Given the description of an element on the screen output the (x, y) to click on. 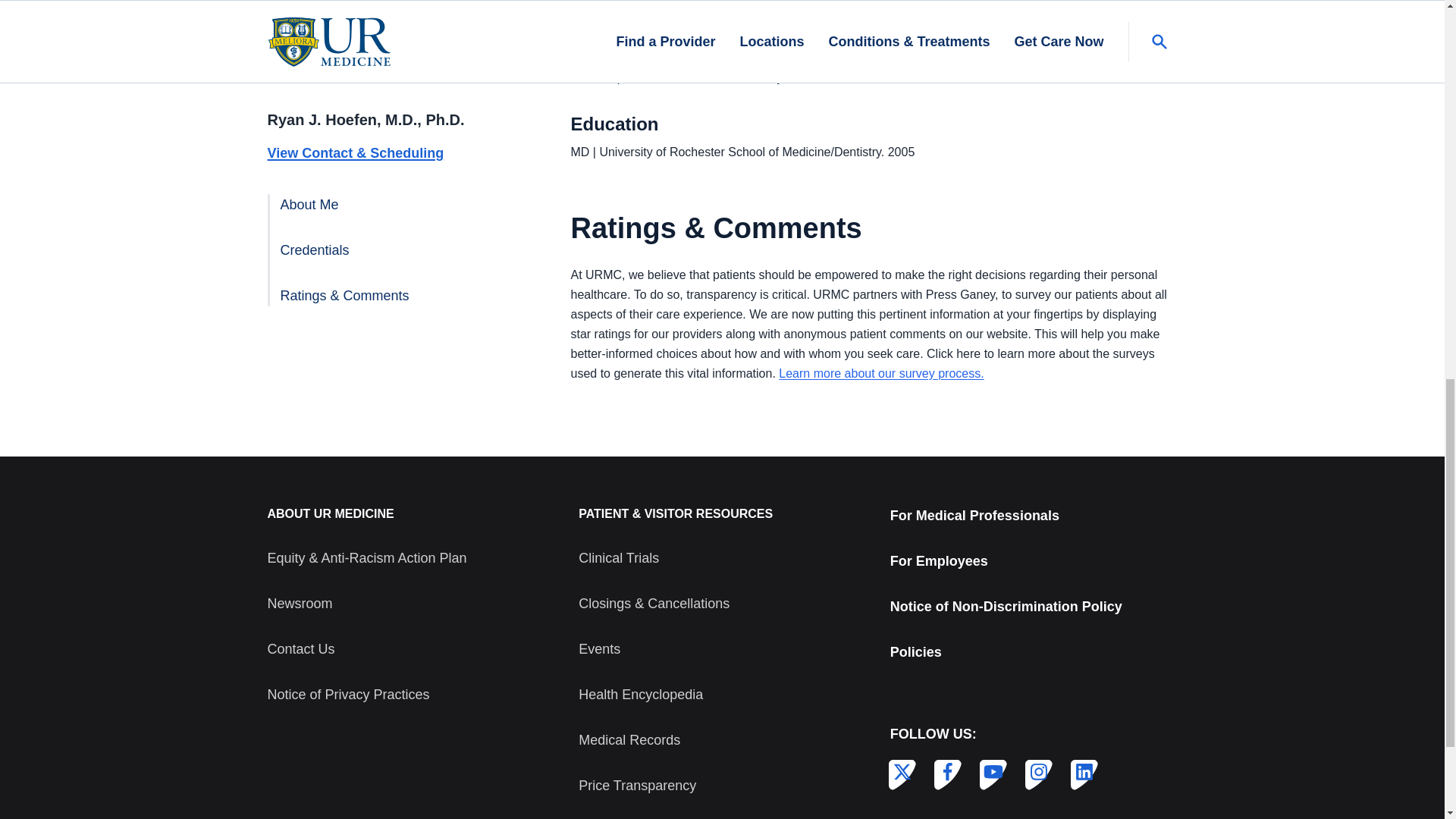
UR Medicine on Facebook (944, 771)
UR Medicine on YouTube (990, 771)
UR Medicine on Instagram (1035, 771)
UR Medicine on LinkedIn (1080, 771)
UR Medicine on X (898, 771)
